Given the description of an element on the screen output the (x, y) to click on. 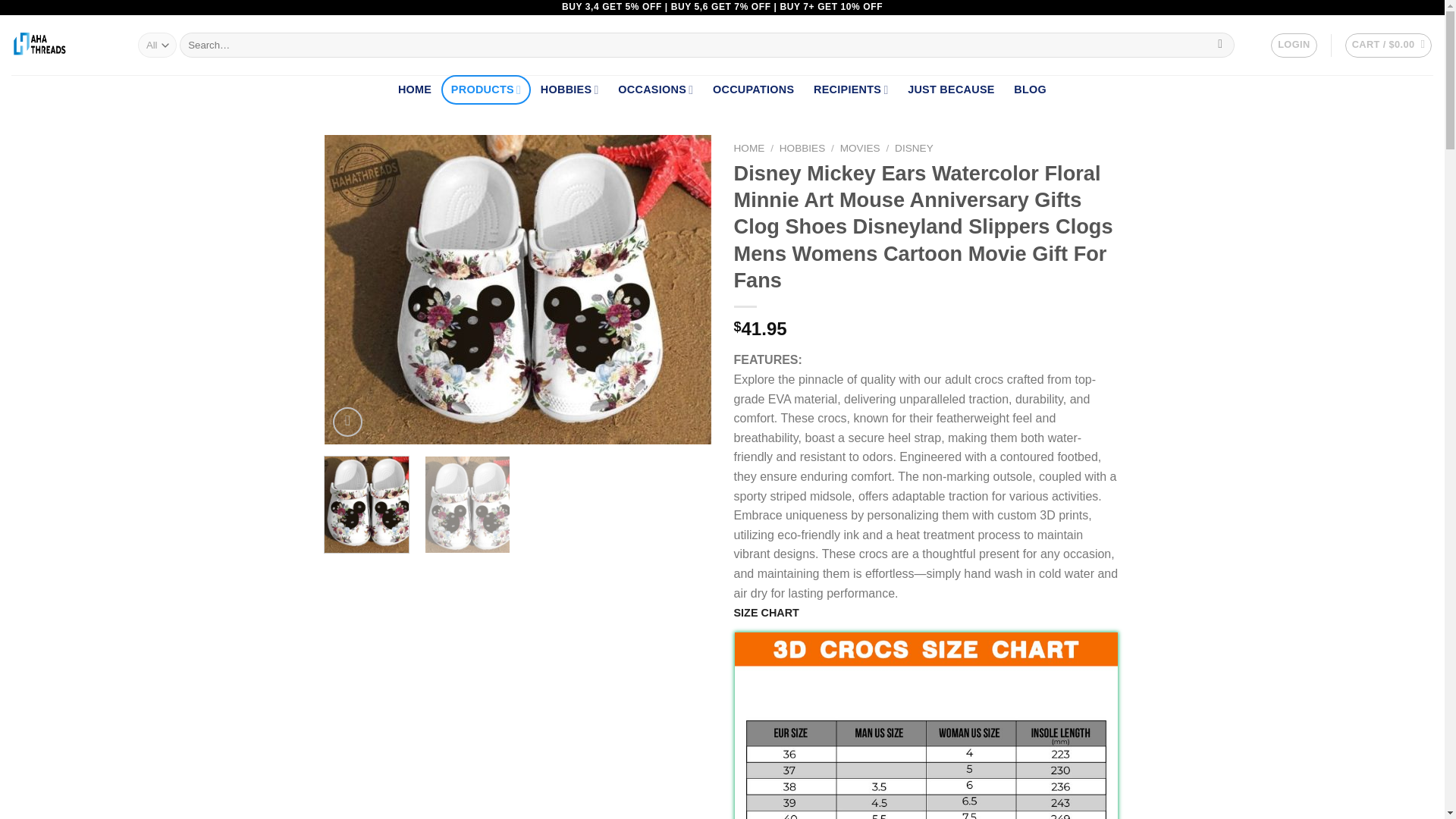
Search (1220, 45)
PRODUCTS (486, 89)
Cart (1388, 45)
HOME (414, 89)
LOGIN (1293, 45)
Zoom (347, 421)
Hahathreads - Just Your Style (63, 45)
HOBBIES (569, 89)
